Given the description of an element on the screen output the (x, y) to click on. 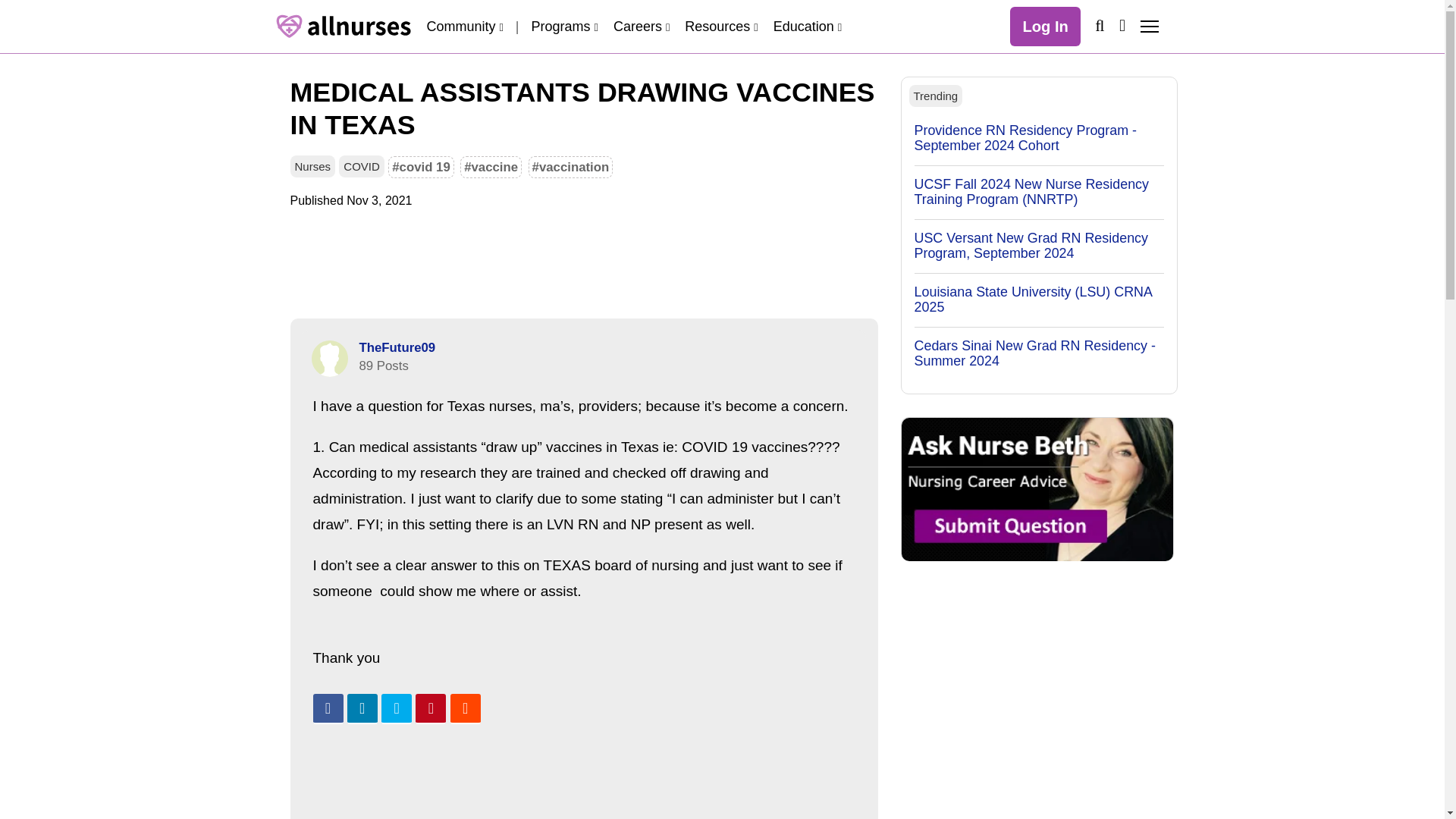
Share on Pinterest (429, 708)
Share on Facebook (327, 708)
Community (465, 26)
Share on LinkedIn (362, 708)
Up-to-date information on nursing programs in the U.S. (564, 26)
Programs (564, 26)
Find other content tagged with 'Vaccination' (570, 167)
Share on Twitter (396, 708)
Find other content tagged with 'Vaccine' (490, 167)
Go to TheFuture09's profile (397, 347)
